Given the description of an element on the screen output the (x, y) to click on. 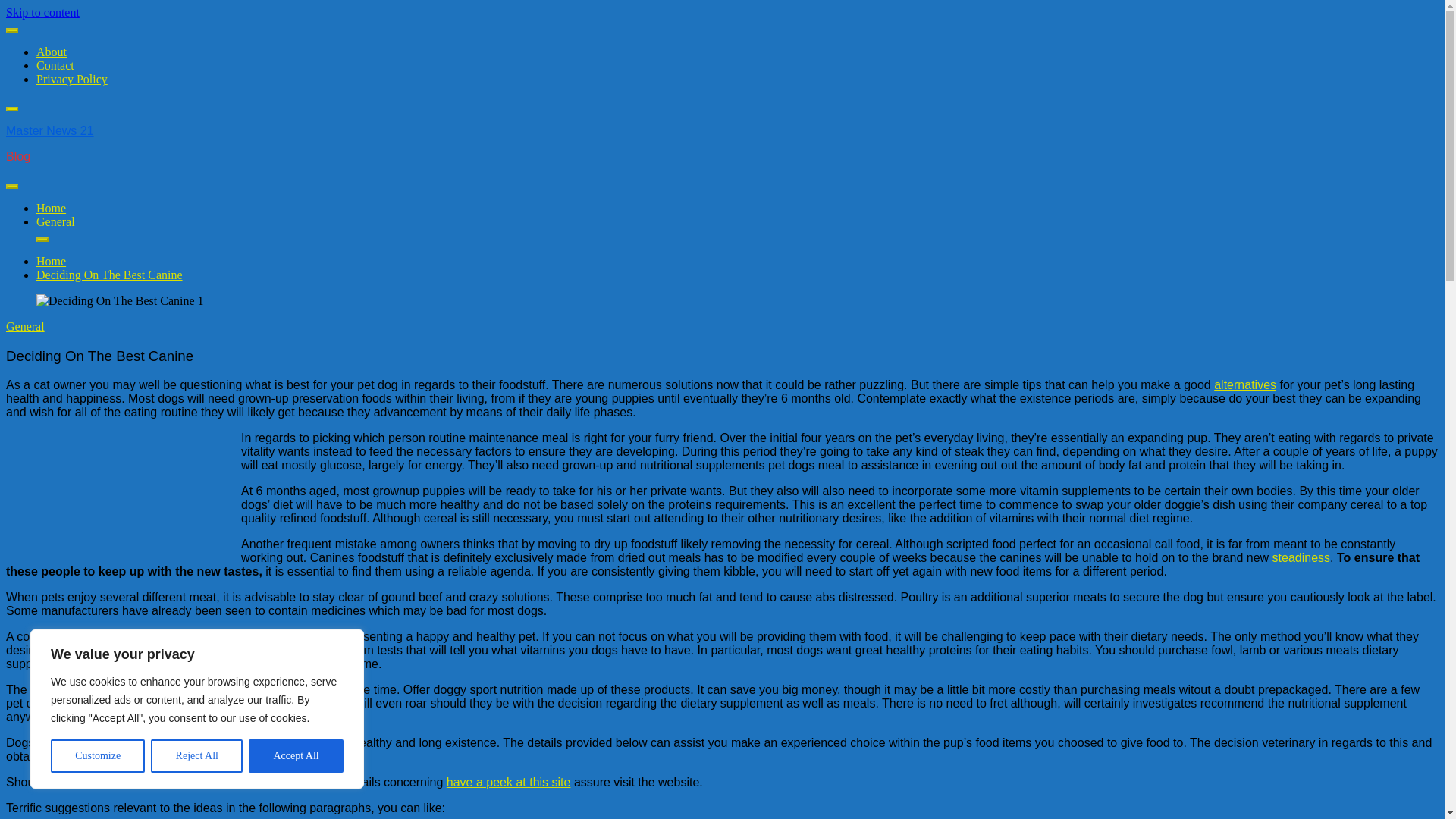
Skip to content (42, 11)
Home (50, 260)
have a peek at this site (508, 781)
Privacy Policy (71, 78)
Master News 21 (49, 130)
General (55, 221)
Deciding On The Best Canine (109, 274)
General (25, 326)
About (51, 51)
Customize (97, 756)
